Given the description of an element on the screen output the (x, y) to click on. 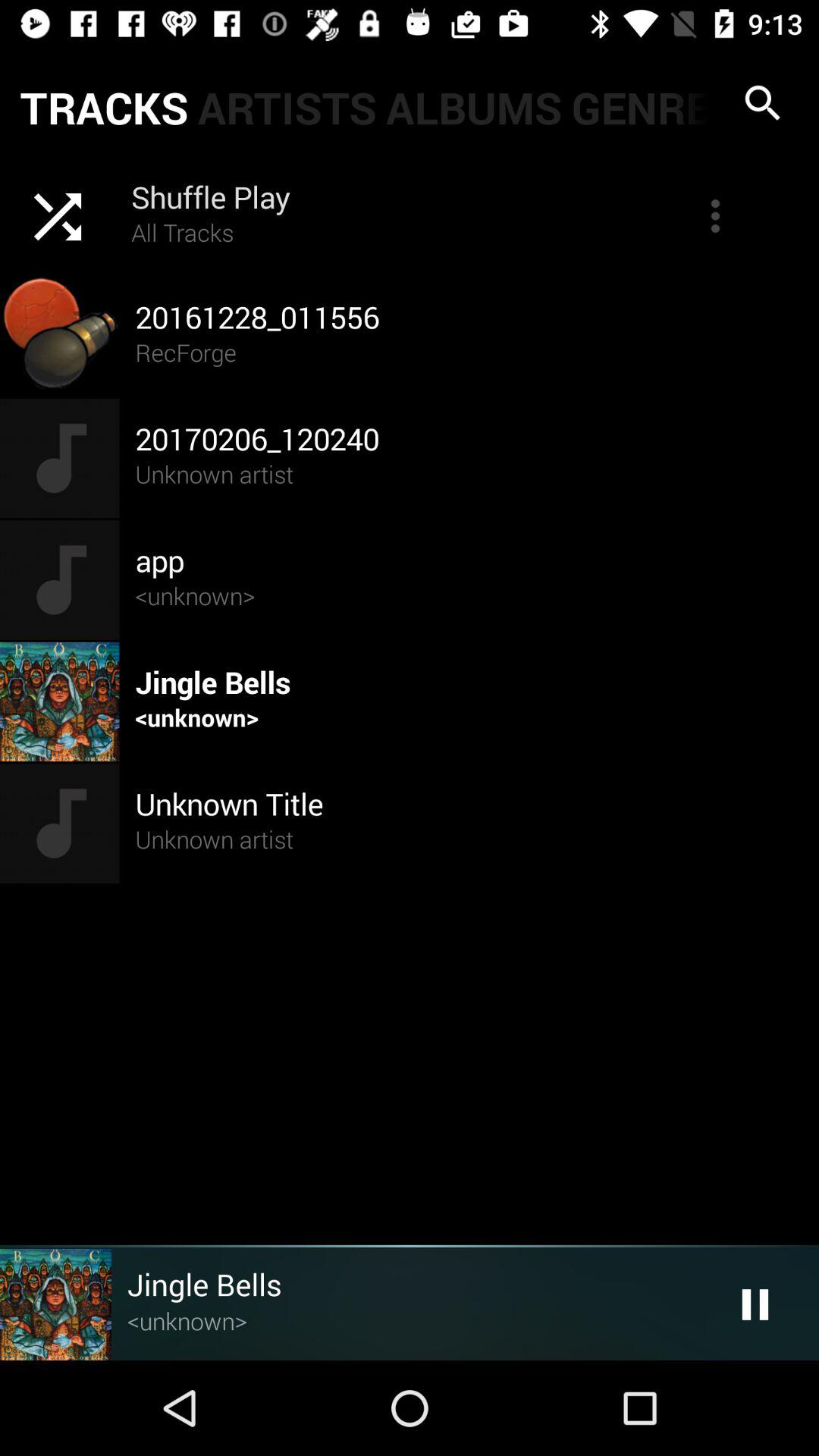
display options (715, 216)
